Given the description of an element on the screen output the (x, y) to click on. 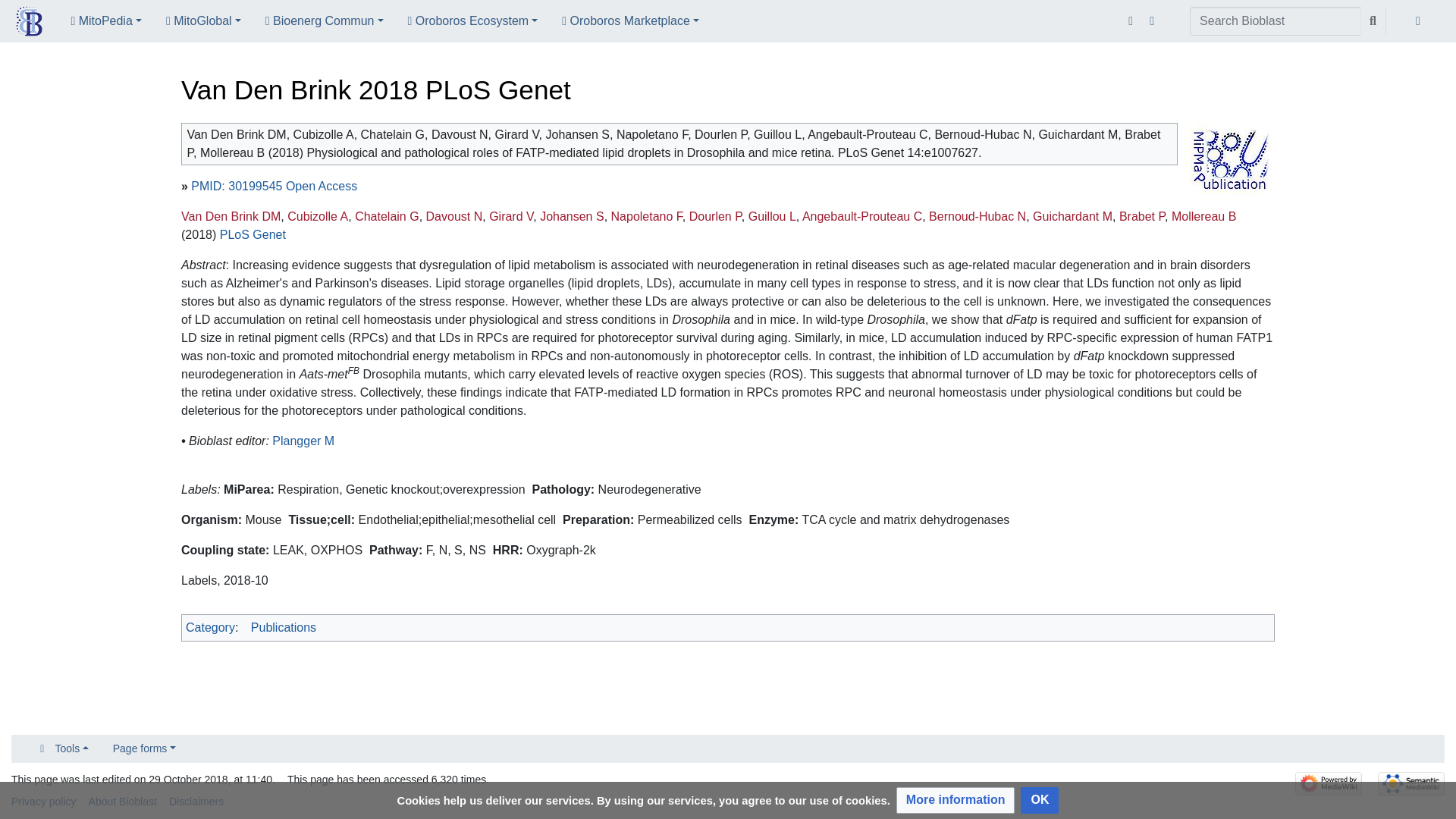
Publications in the MiPMap (1229, 157)
Go to a page with this exact name if it exists (1372, 21)
Visit the main page (28, 22)
Go (1372, 21)
